Given the description of an element on the screen output the (x, y) to click on. 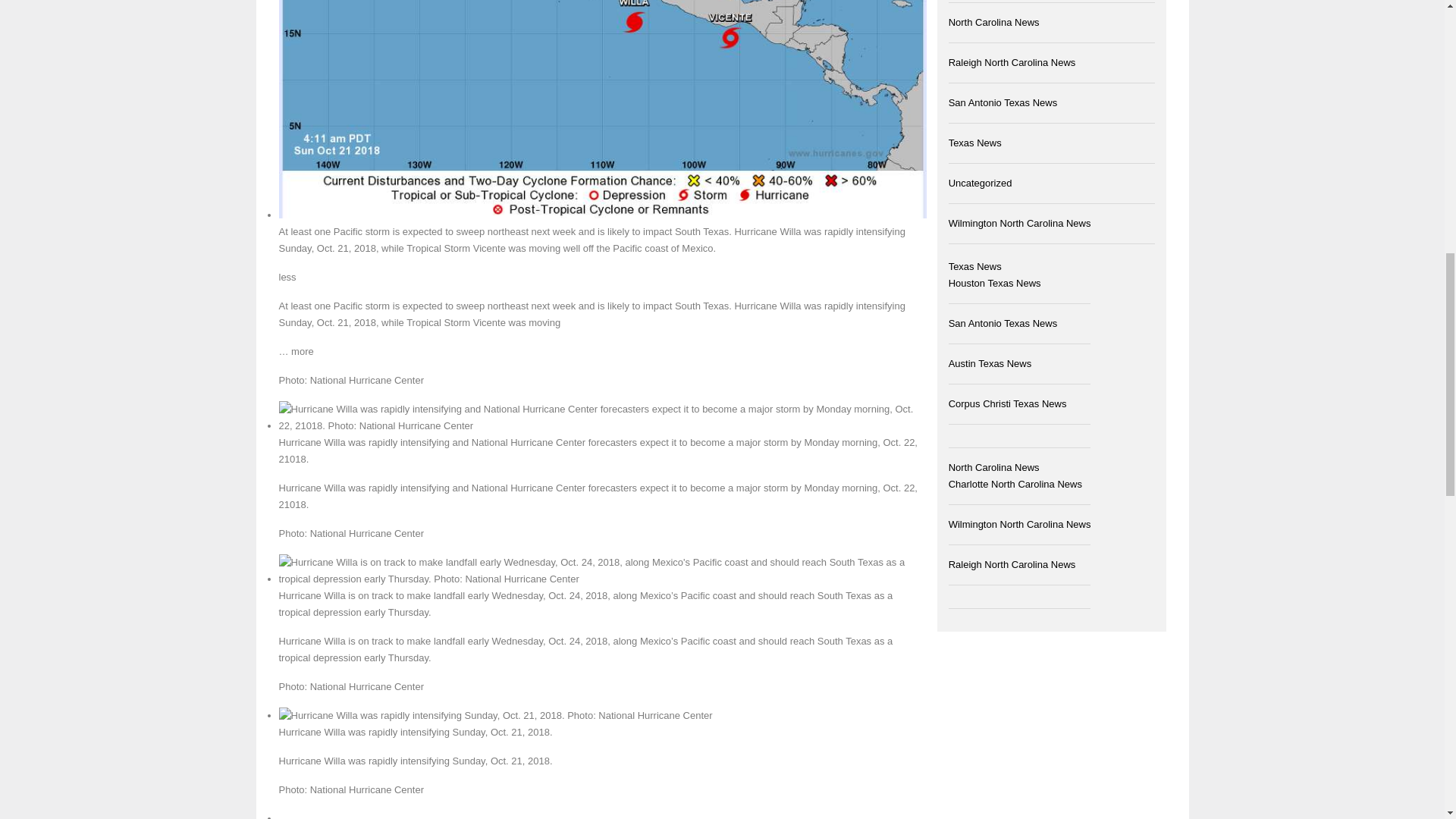
less (288, 276)
